Given the description of an element on the screen output the (x, y) to click on. 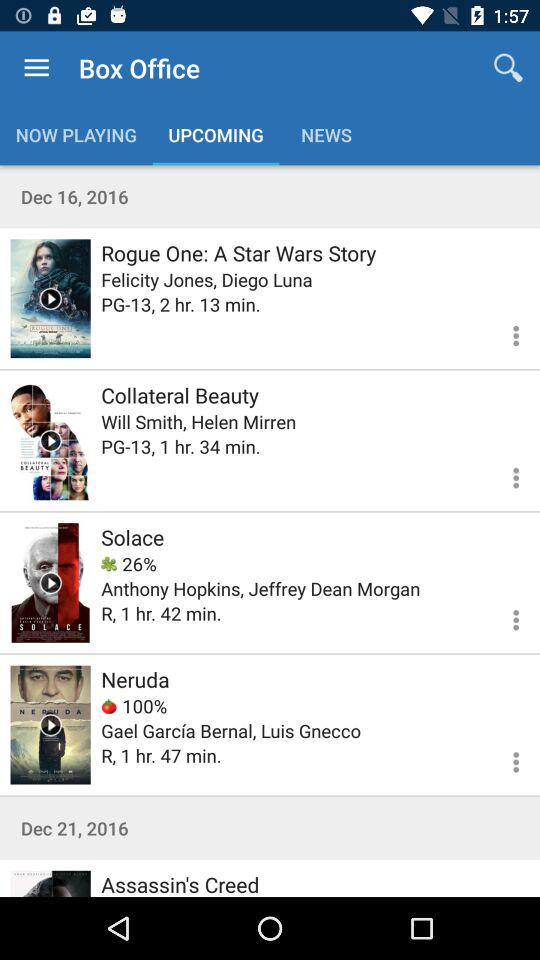
play trailer (50, 724)
